Given the description of an element on the screen output the (x, y) to click on. 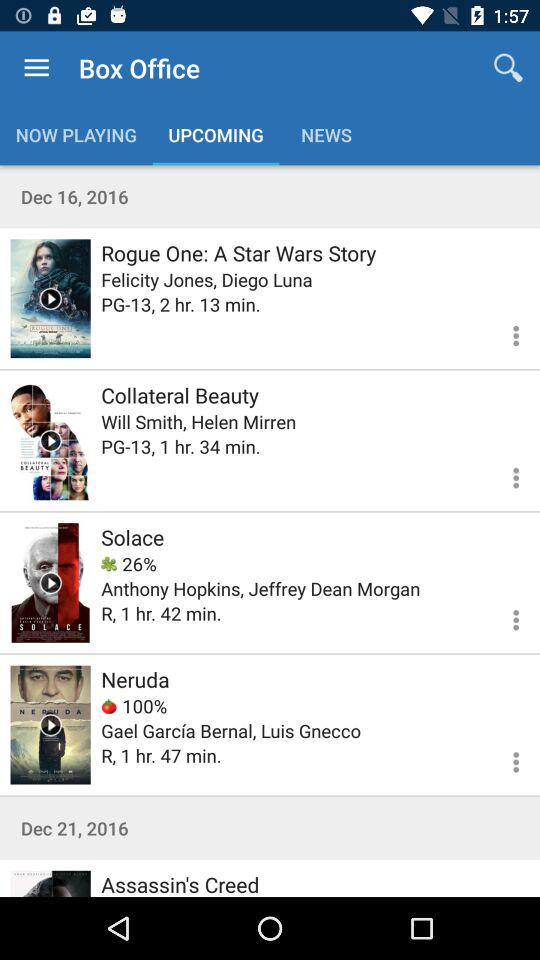
play trailer (50, 724)
